Given the description of an element on the screen output the (x, y) to click on. 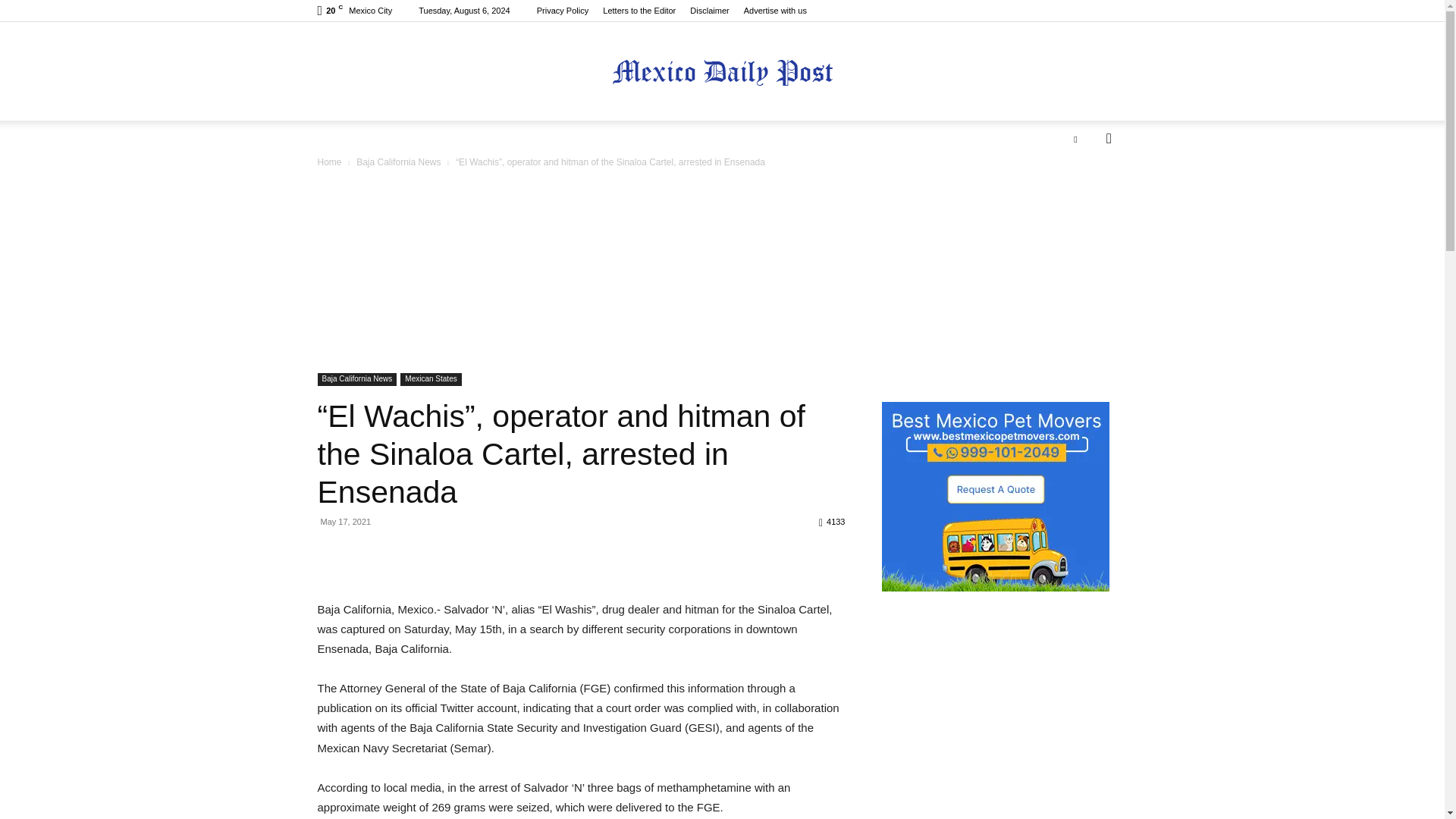
View all posts in Baja California News (398, 162)
Letters to the Editor (638, 10)
Advertise with us (775, 10)
Privacy Policy (562, 10)
Mexico Daily Post (721, 72)
Home (328, 162)
Disclaimer (709, 10)
Mexican States (430, 379)
Search (1085, 199)
Baja California News (356, 379)
